Given the description of an element on the screen output the (x, y) to click on. 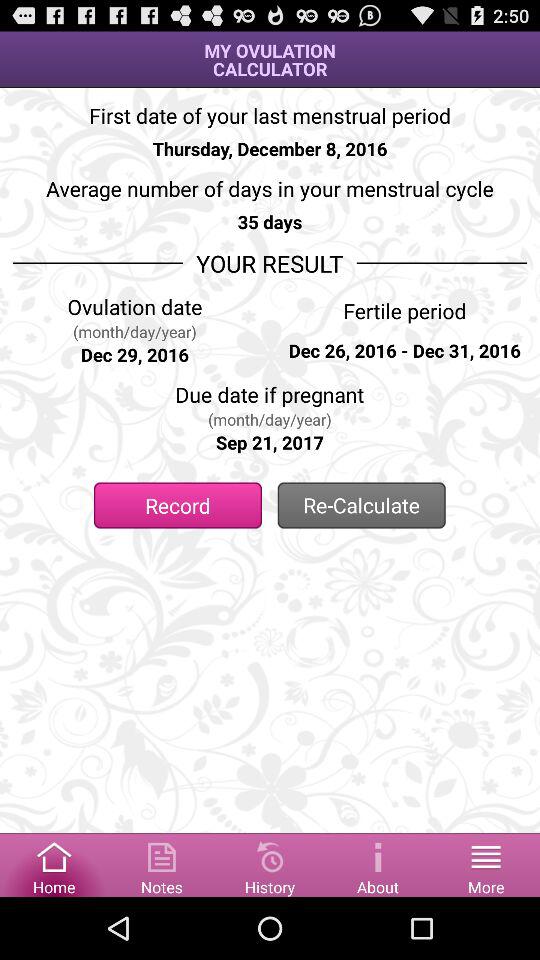
click to notes option (162, 864)
